Given the description of an element on the screen output the (x, y) to click on. 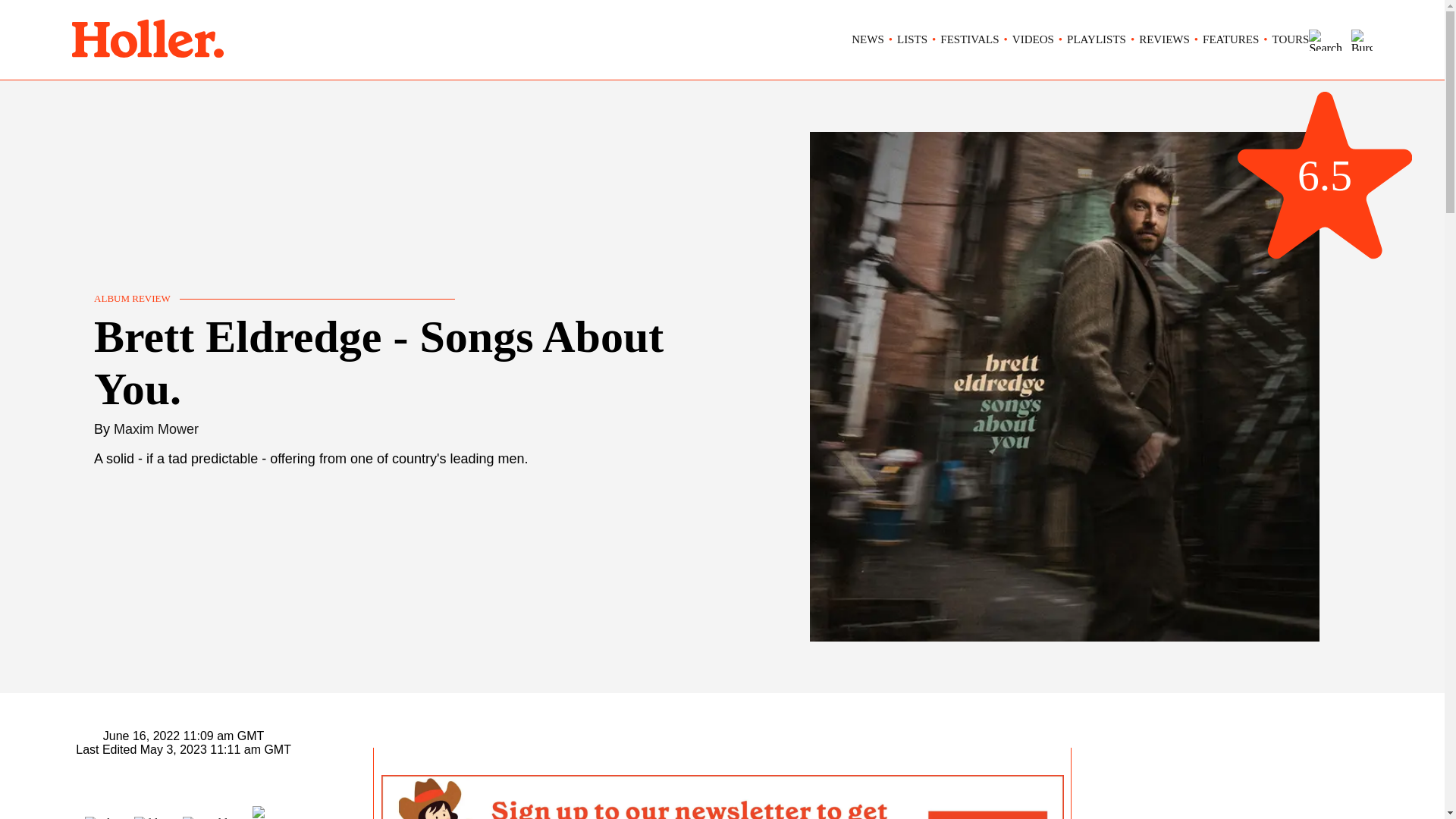
TOURS (1290, 39)
FEATURES (1230, 39)
Maxim Mower (155, 428)
FESTIVALS (969, 39)
REVIEWS (1163, 39)
VIDEOS (1032, 39)
NEWS (867, 39)
PLAYLISTS (1096, 39)
LISTS (911, 39)
